Given the description of an element on the screen output the (x, y) to click on. 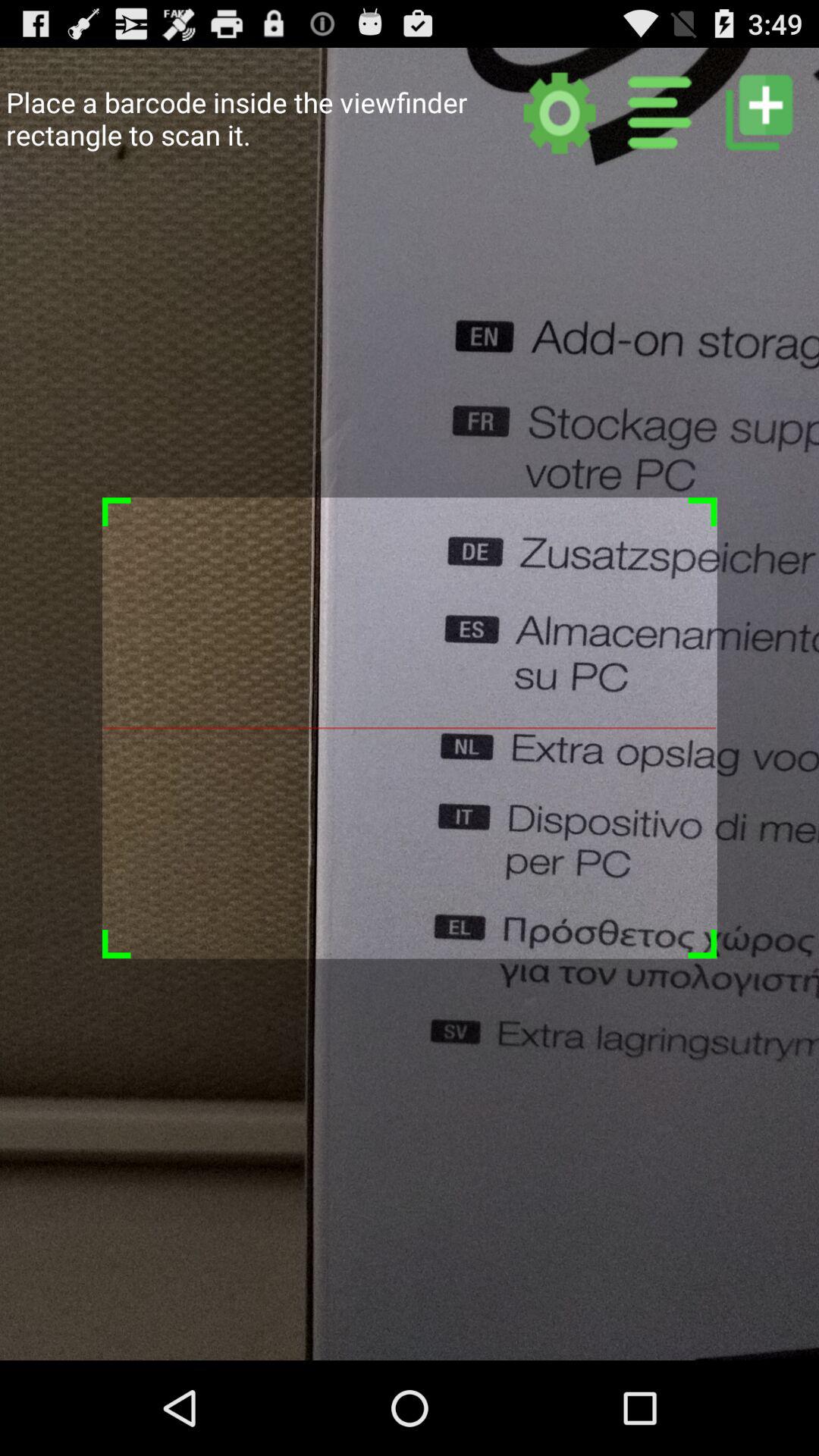
explore menu options (659, 112)
